Given the description of an element on the screen output the (x, y) to click on. 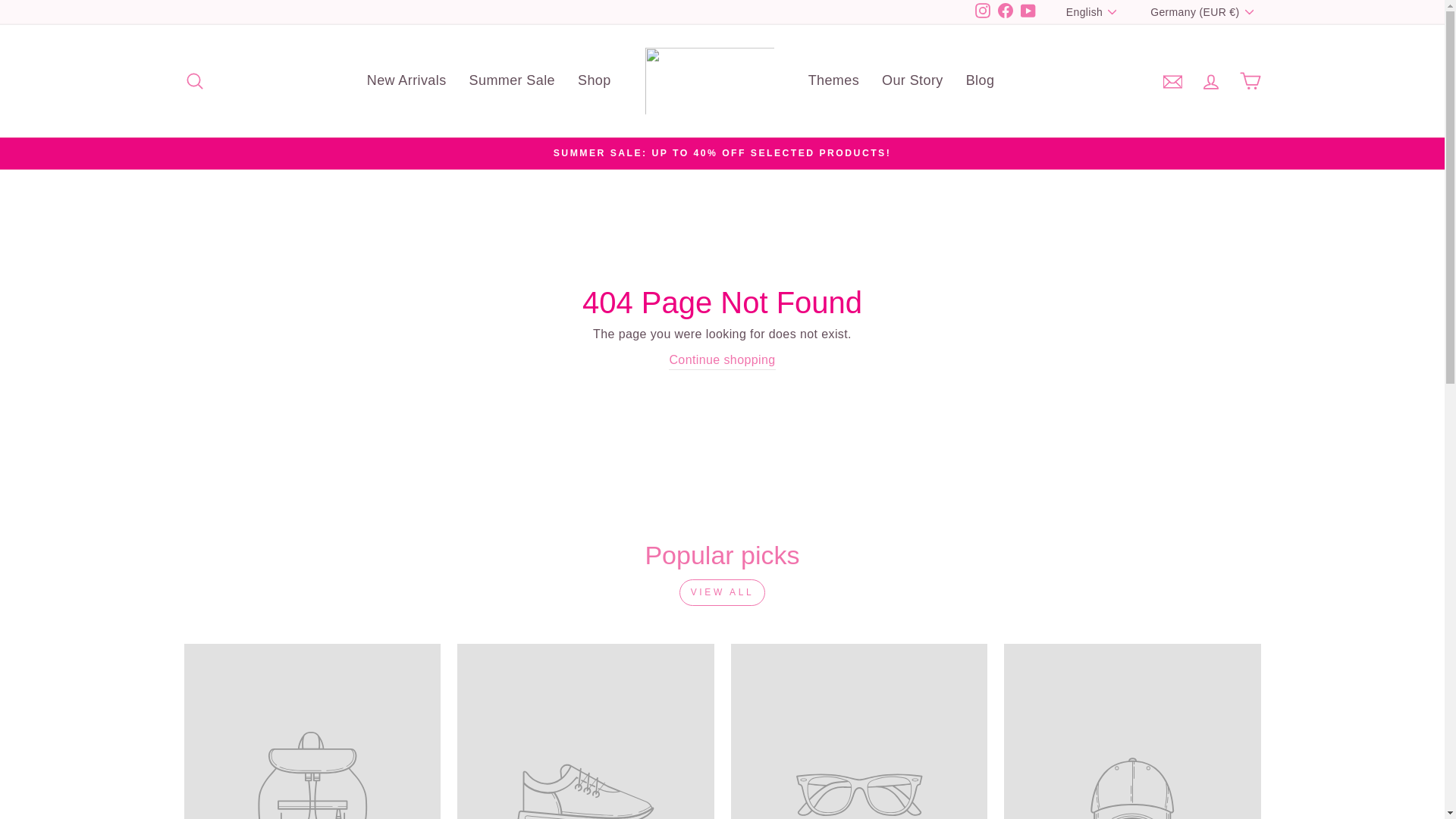
Our Generation Europe on Instagram (982, 11)
Our Generation Europe on Facebook (1005, 11)
Our Generation Europe on YouTube (1027, 11)
